Given the description of an element on the screen output the (x, y) to click on. 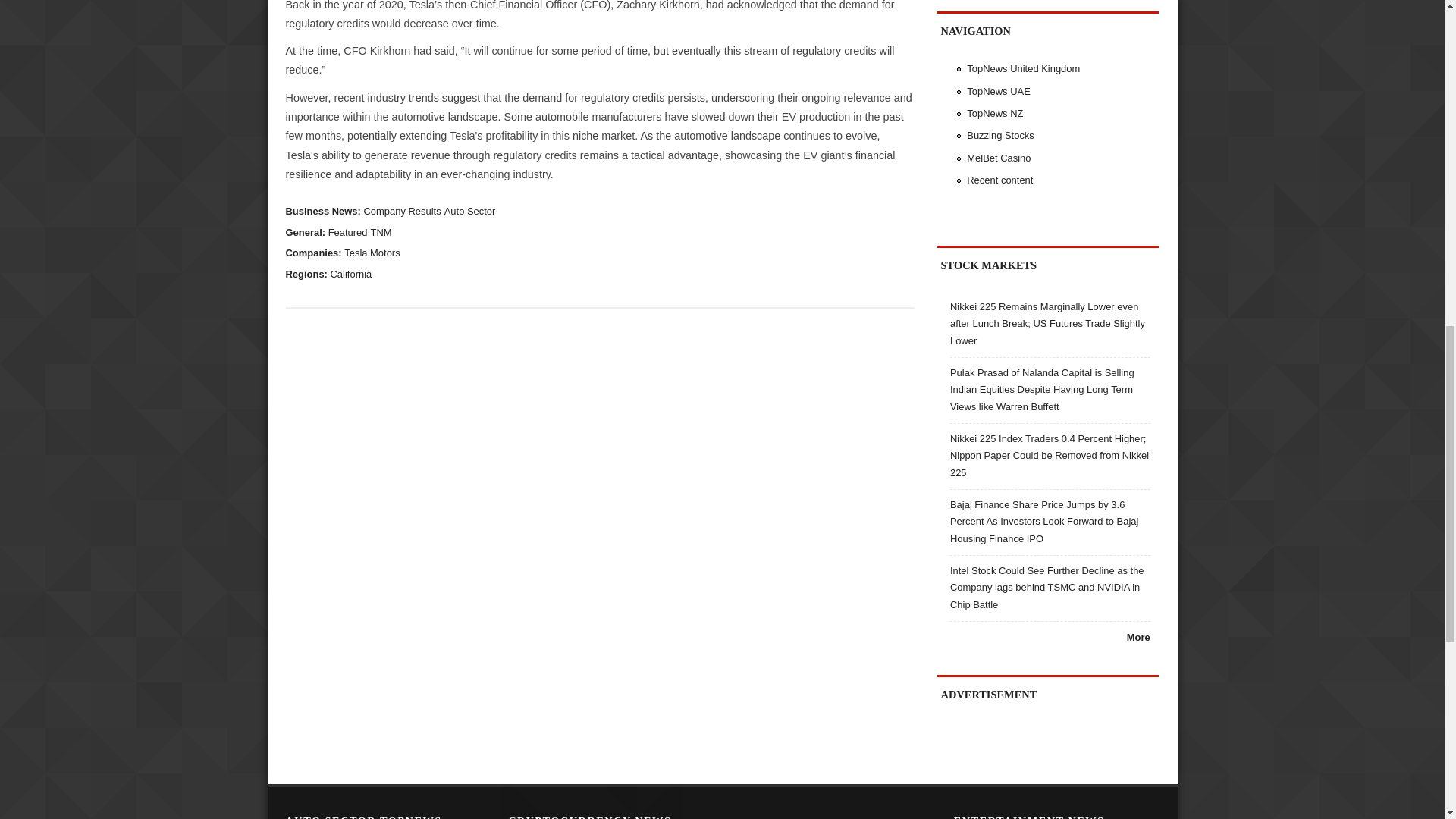
TopNews NZ (994, 112)
TopNews UAE (998, 91)
Company Results (401, 211)
Buzzing Stocks (999, 134)
Tesla Motors (370, 252)
TopNews United Kingdom (1023, 68)
Featured (348, 232)
Auto Sector (470, 211)
TNM (381, 232)
California (351, 274)
